Given the description of an element on the screen output the (x, y) to click on. 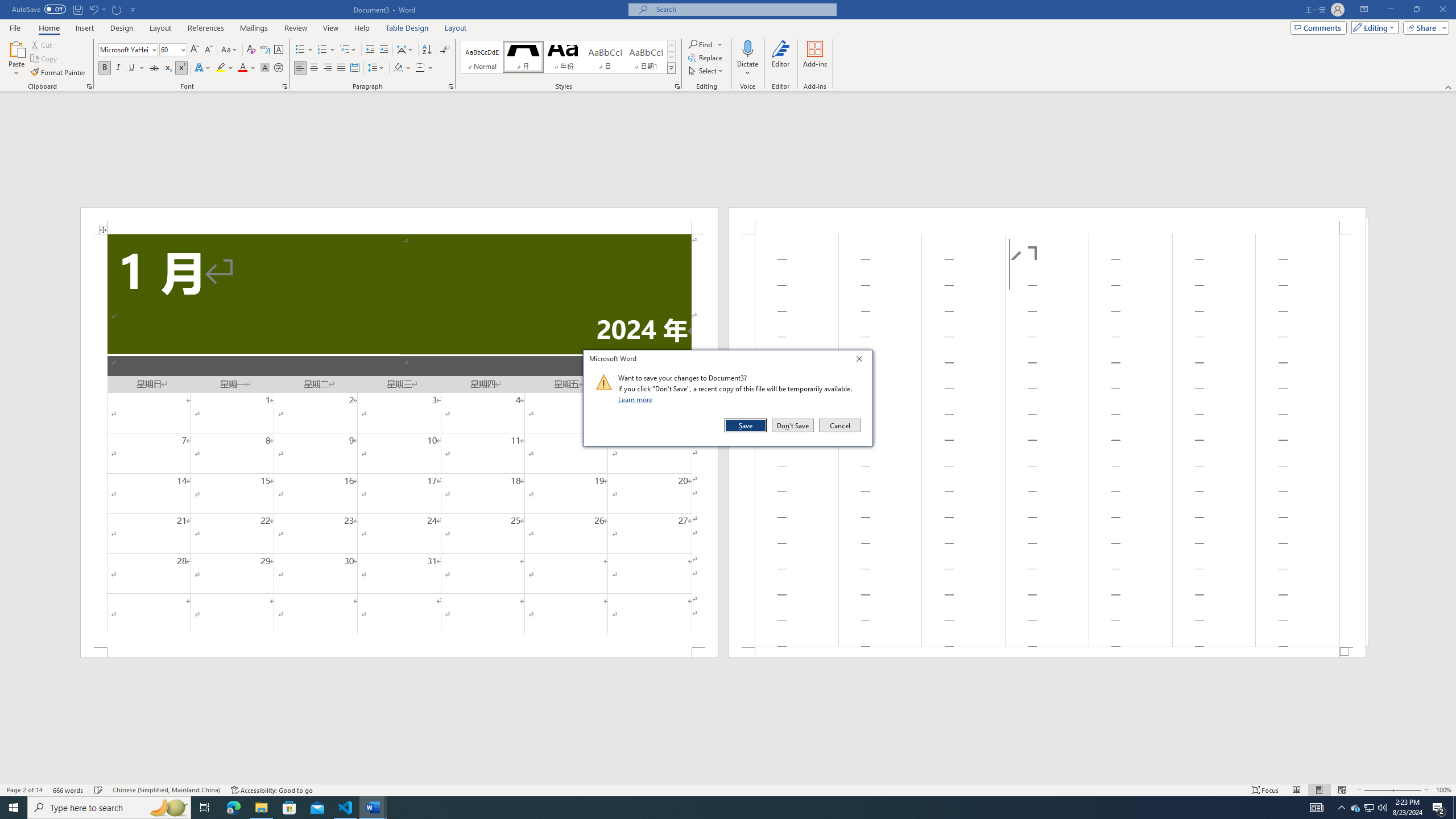
Undo Superscript (96, 9)
